Given the description of an element on the screen output the (x, y) to click on. 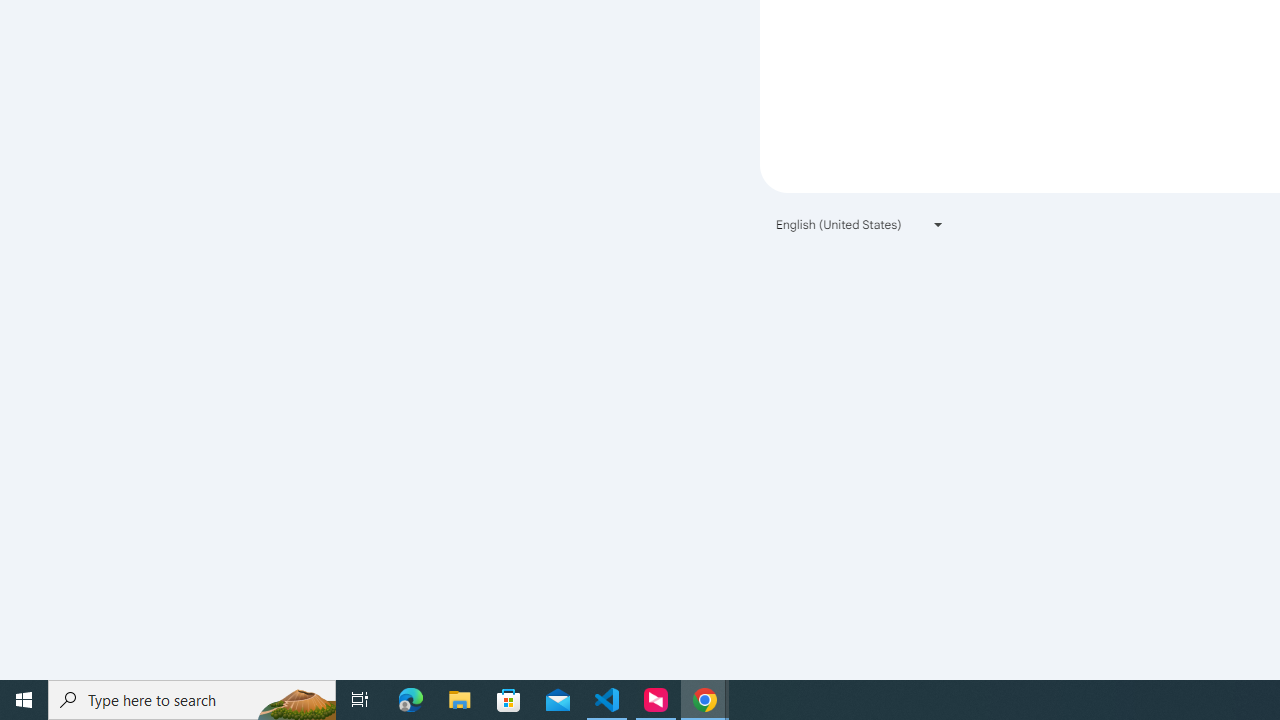
English (United States) (860, 224)
